Given the description of an element on the screen output the (x, y) to click on. 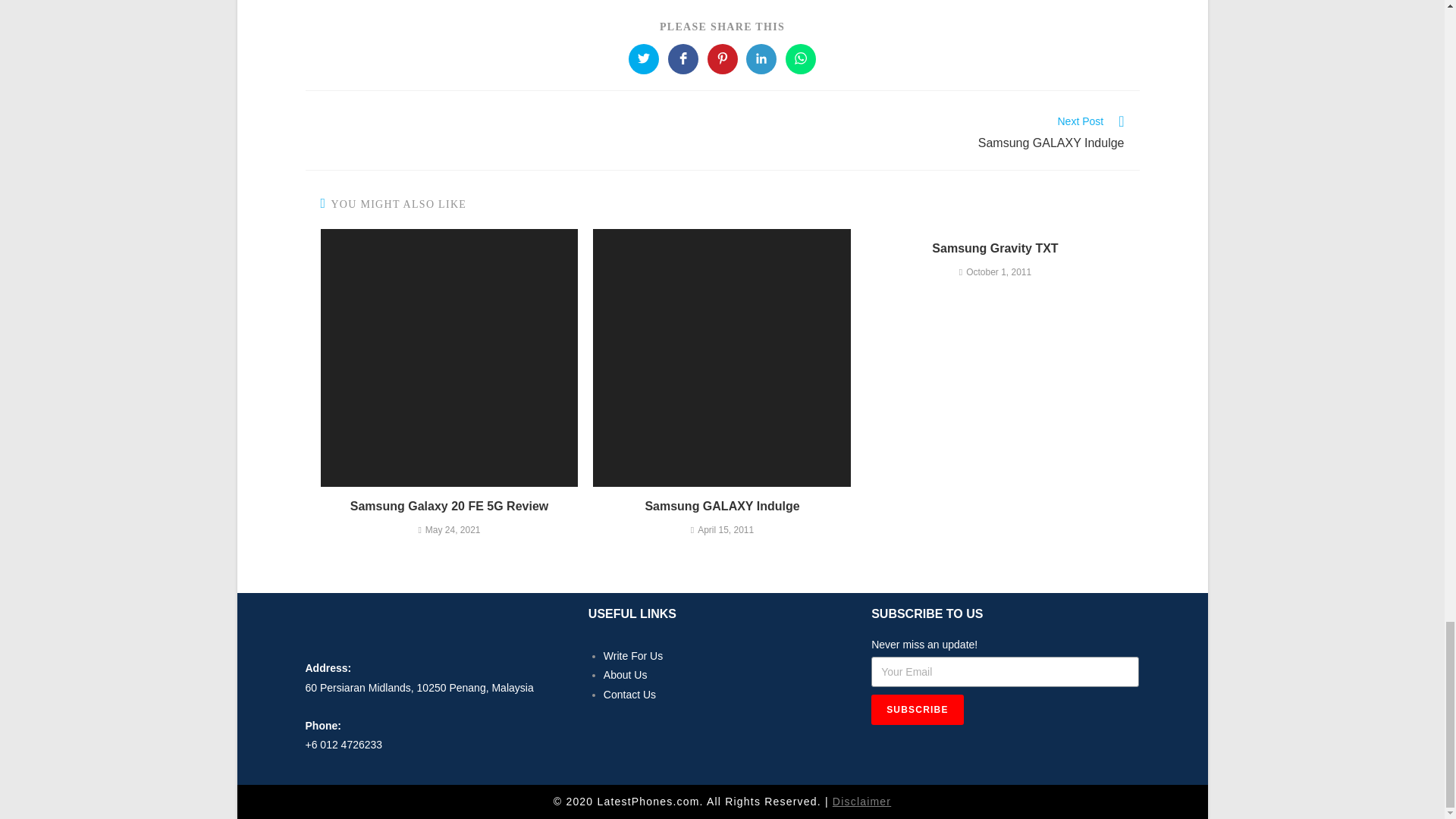
Share on Twitter (930, 133)
Contact Us (643, 59)
Disclaimer (630, 694)
About Us (861, 801)
Samsung GALAXY Indulge (625, 674)
Share on Facebook (721, 506)
Share on Pinterest (683, 59)
Share on LinkedIn (721, 59)
Write For Us (760, 59)
